Given the description of an element on the screen output the (x, y) to click on. 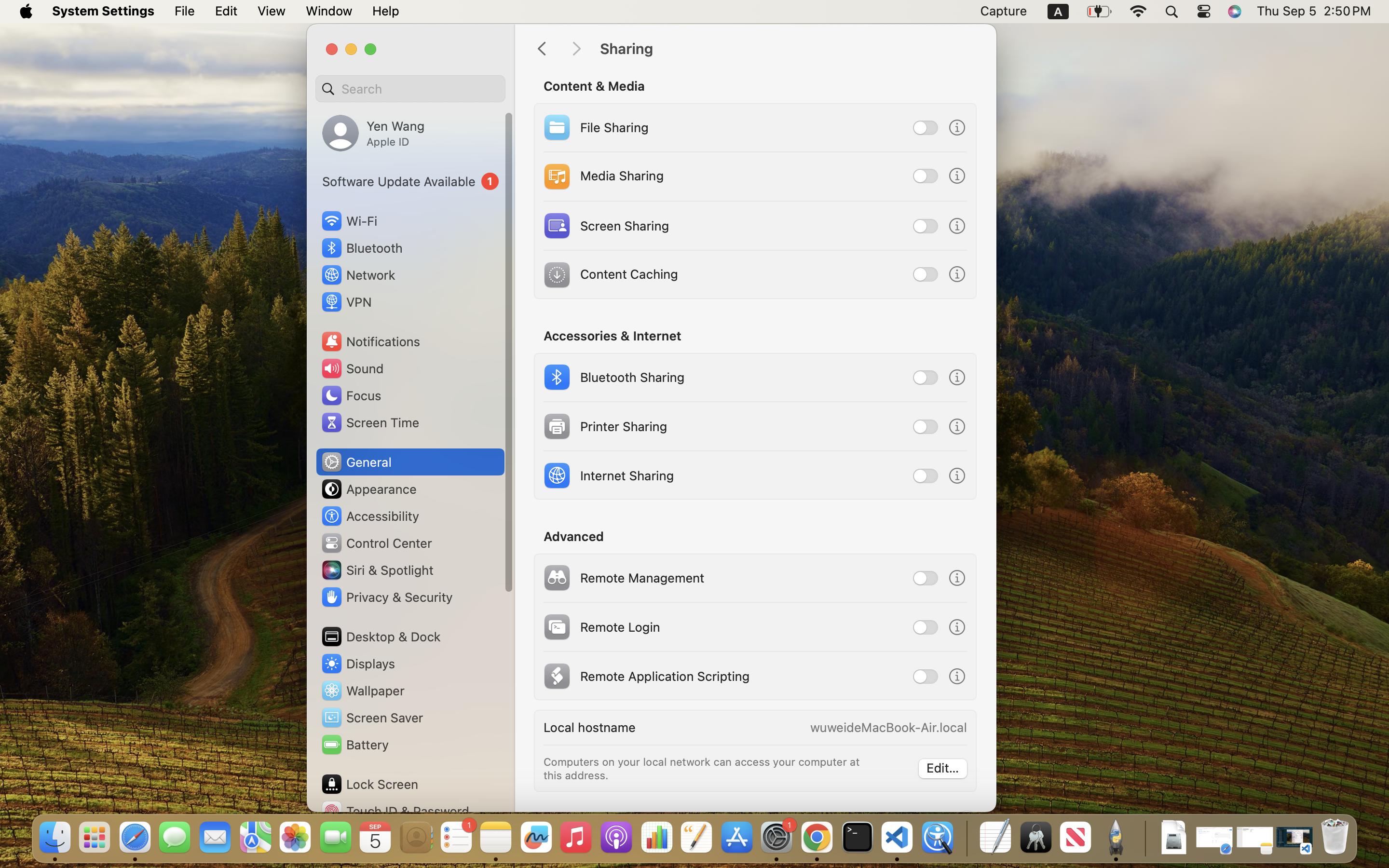
Notifications Element type: AXStaticText (370, 340)
Local hostname Element type: AXStaticText (588, 726)
Sound Element type: AXStaticText (351, 367)
Computers on your local network can access your computer at this address. Element type: AXStaticText (702, 768)
Wallpaper Element type: AXStaticText (362, 690)
